Given the description of an element on the screen output the (x, y) to click on. 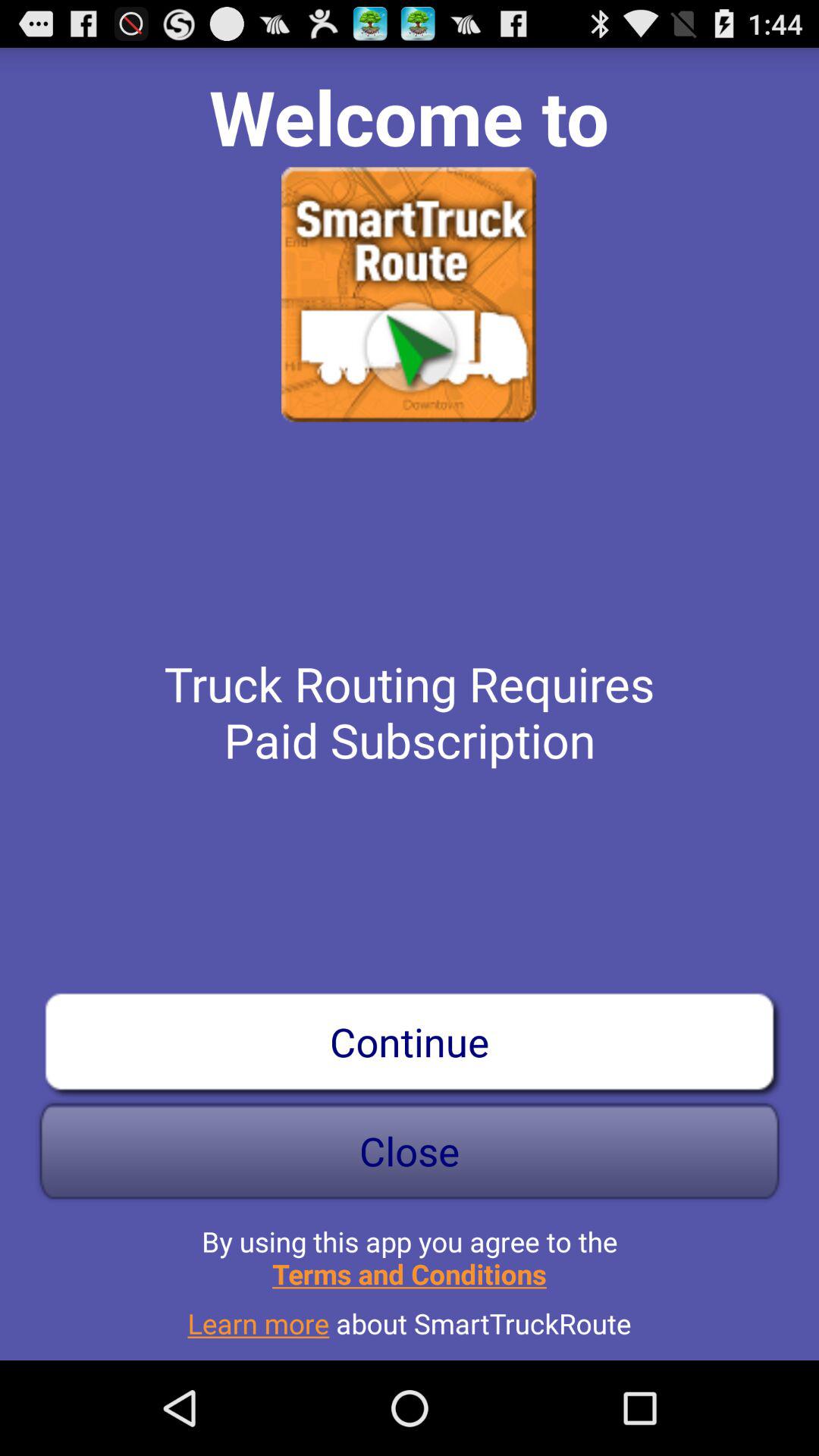
press the app below by using this app (409, 1317)
